Given the description of an element on the screen output the (x, y) to click on. 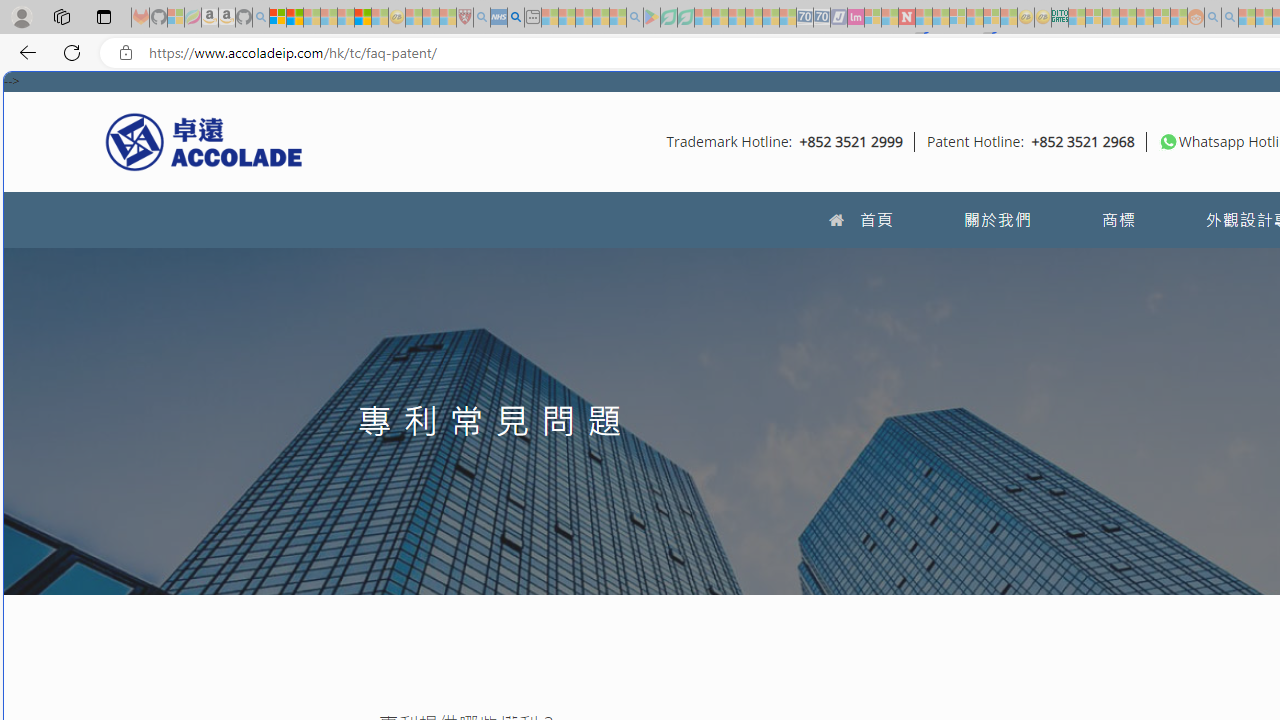
Accolade IP HK Logo (203, 141)
Microsoft account | Privacy - Sleeping (1093, 17)
Microsoft Start - Sleeping (1247, 17)
14 Common Myths Debunked By Scientific Facts - Sleeping (940, 17)
Utah sues federal government - Search - Sleeping (1229, 17)
